Given the description of an element on the screen output the (x, y) to click on. 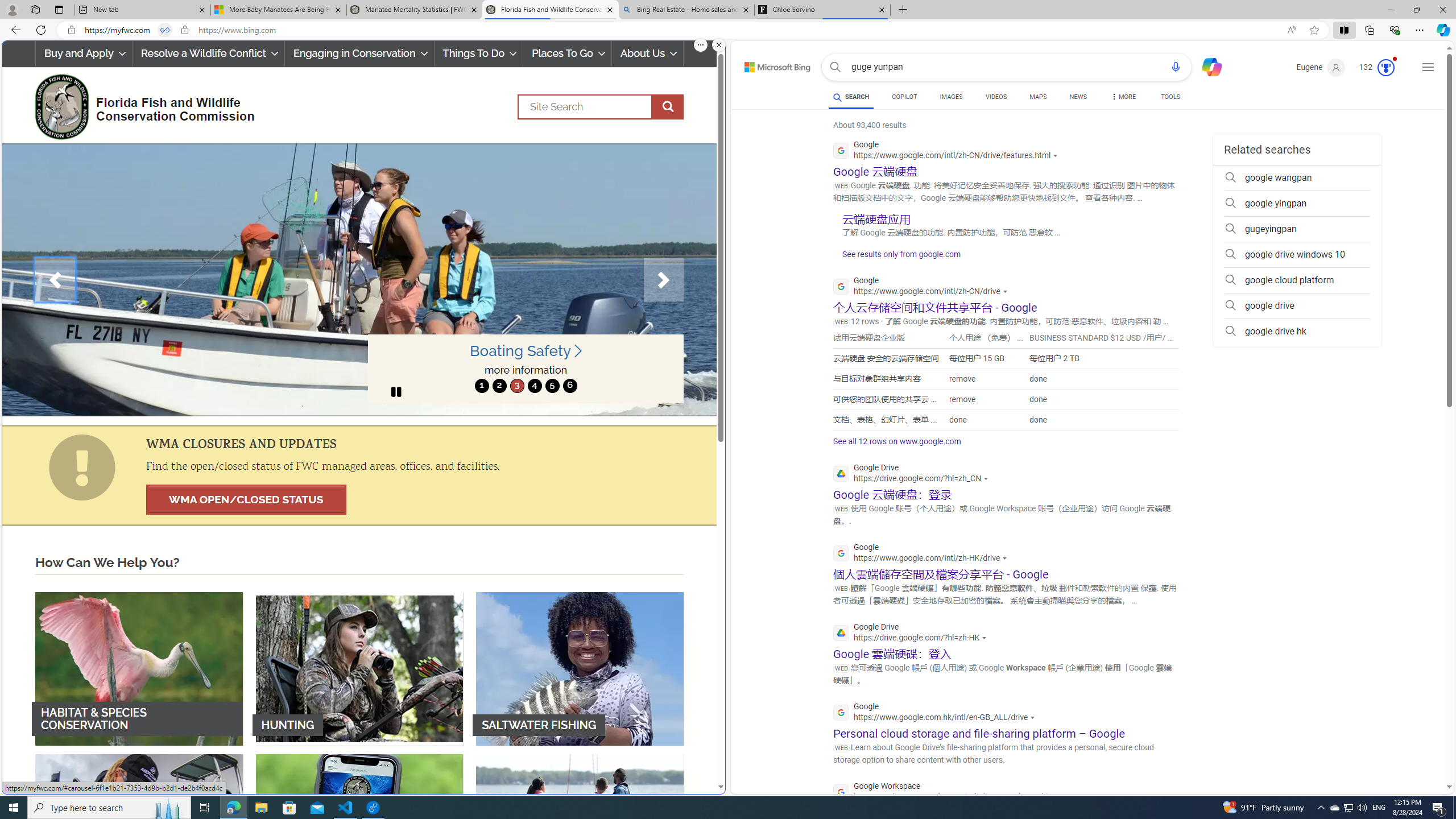
Things To Do (477, 53)
Tab actions menu (58, 9)
MORE (1123, 98)
Resolve a Wildlife Conflict (208, 53)
TOOLS (1171, 98)
Buy and Apply (83, 53)
Collections (1369, 29)
Bing Real Estate - Home sales and rental listings (685, 9)
Personal Profile (12, 9)
Things To Do (478, 53)
MAPS (1038, 98)
View site information (184, 29)
